Given the description of an element on the screen output the (x, y) to click on. 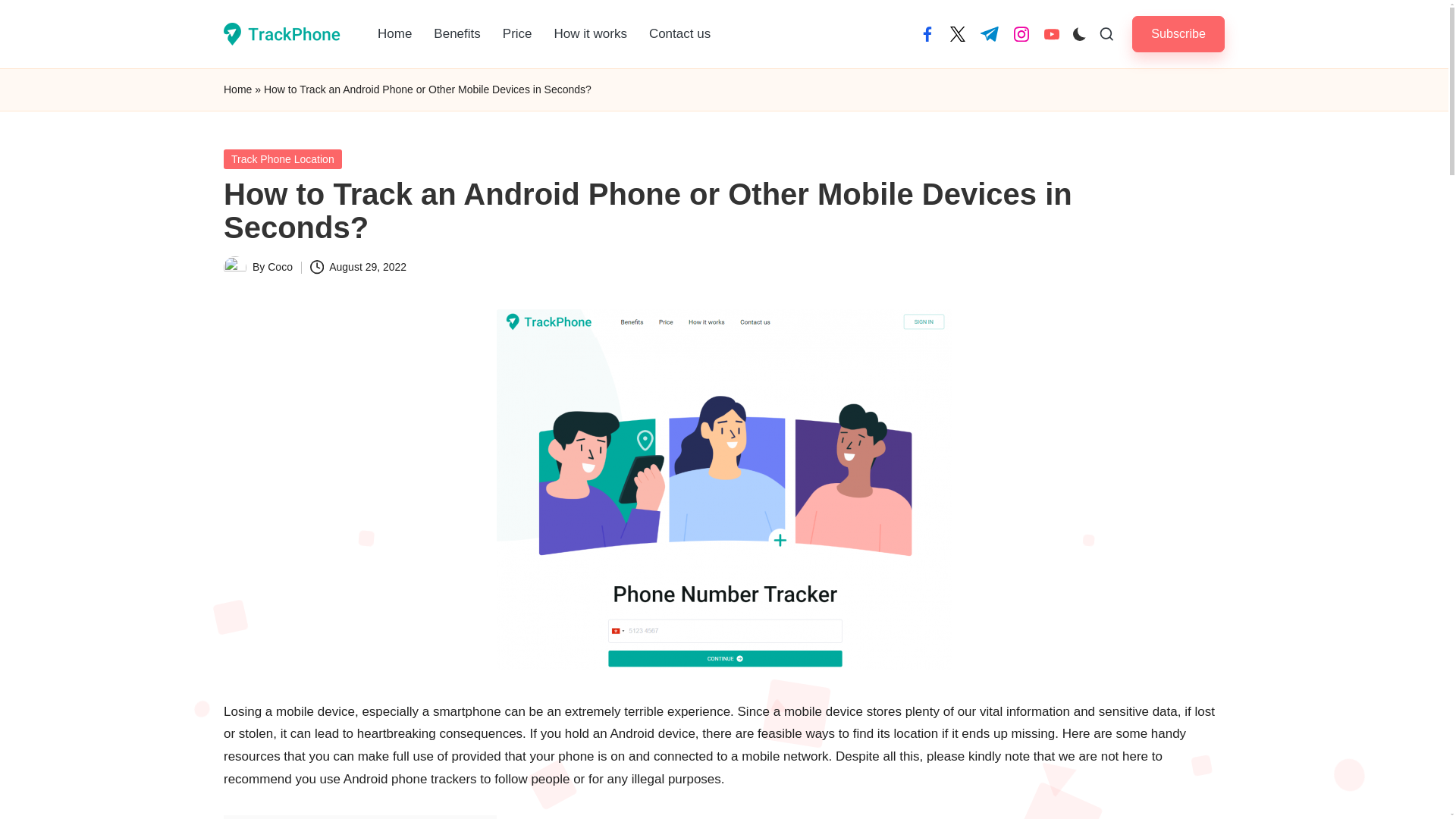
Track Phone Location (283, 158)
t.me (989, 33)
facebook.com (927, 33)
Home (394, 33)
Benefits (456, 33)
Coco (279, 266)
youtube.com (1051, 33)
Contact us (679, 33)
View all posts by Coco (279, 266)
Home (237, 89)
